Given the description of an element on the screen output the (x, y) to click on. 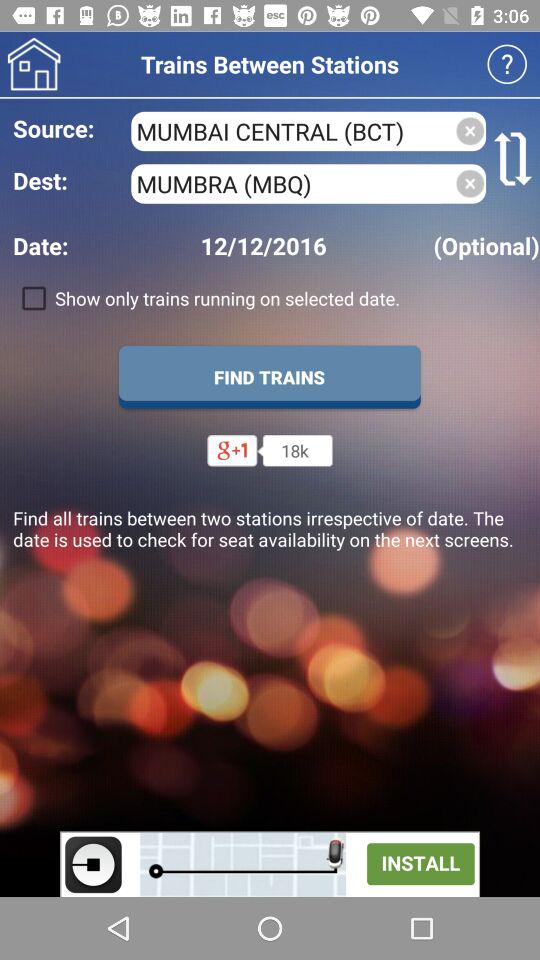
swap source and destination (513, 159)
